Given the description of an element on the screen output the (x, y) to click on. 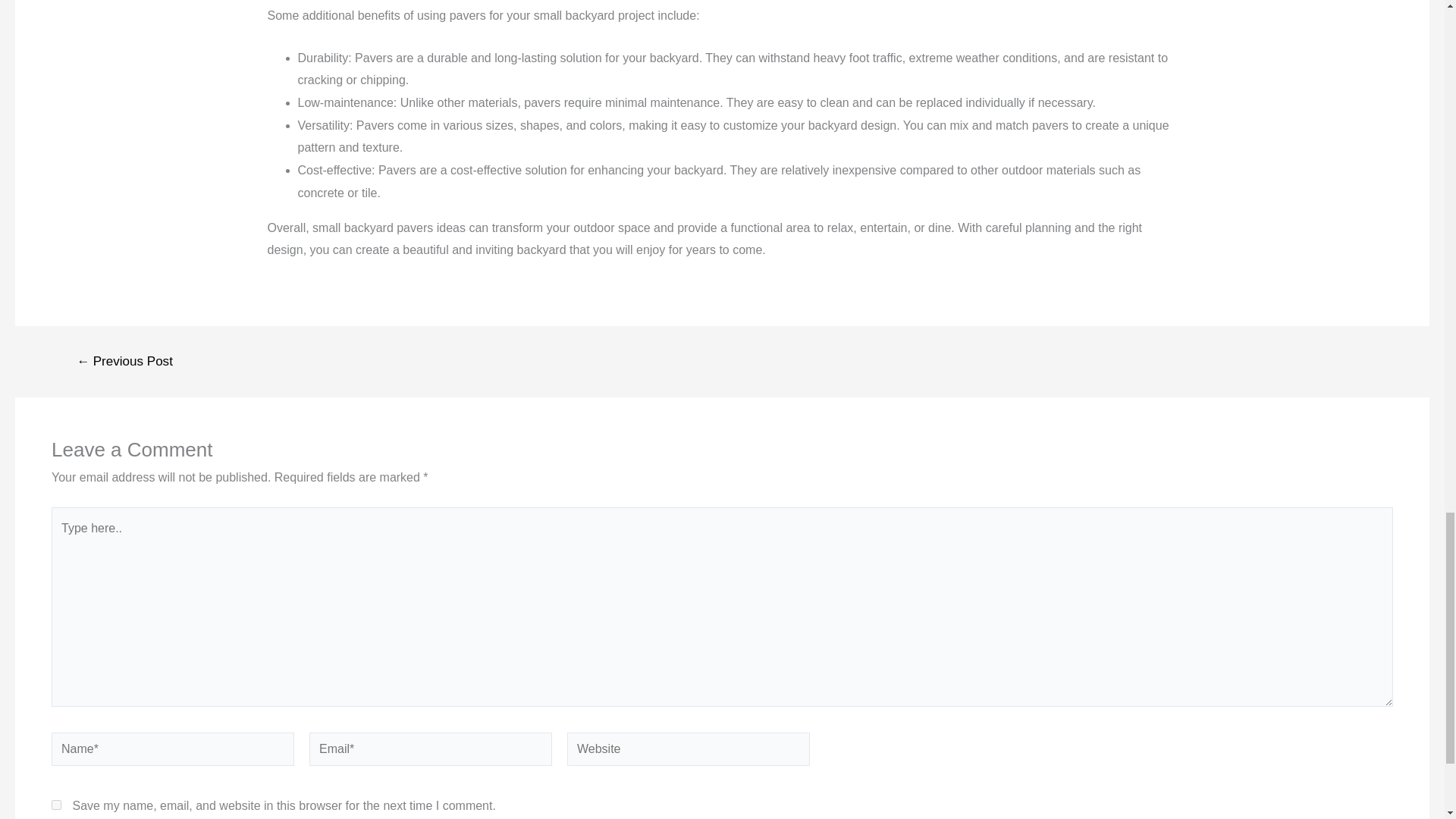
yes (55, 804)
